Given the description of an element on the screen output the (x, y) to click on. 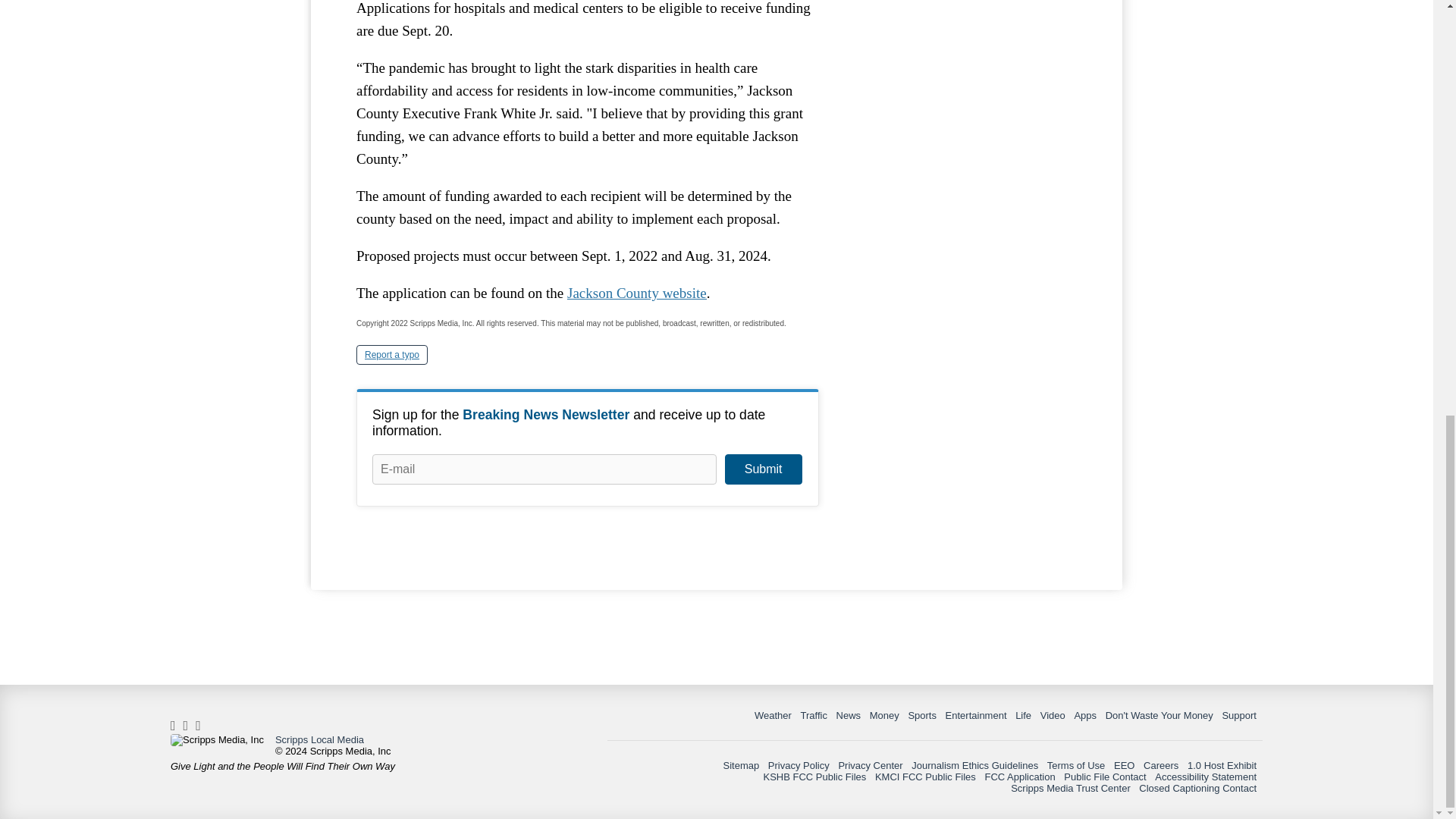
Submit (763, 469)
